Given the description of an element on the screen output the (x, y) to click on. 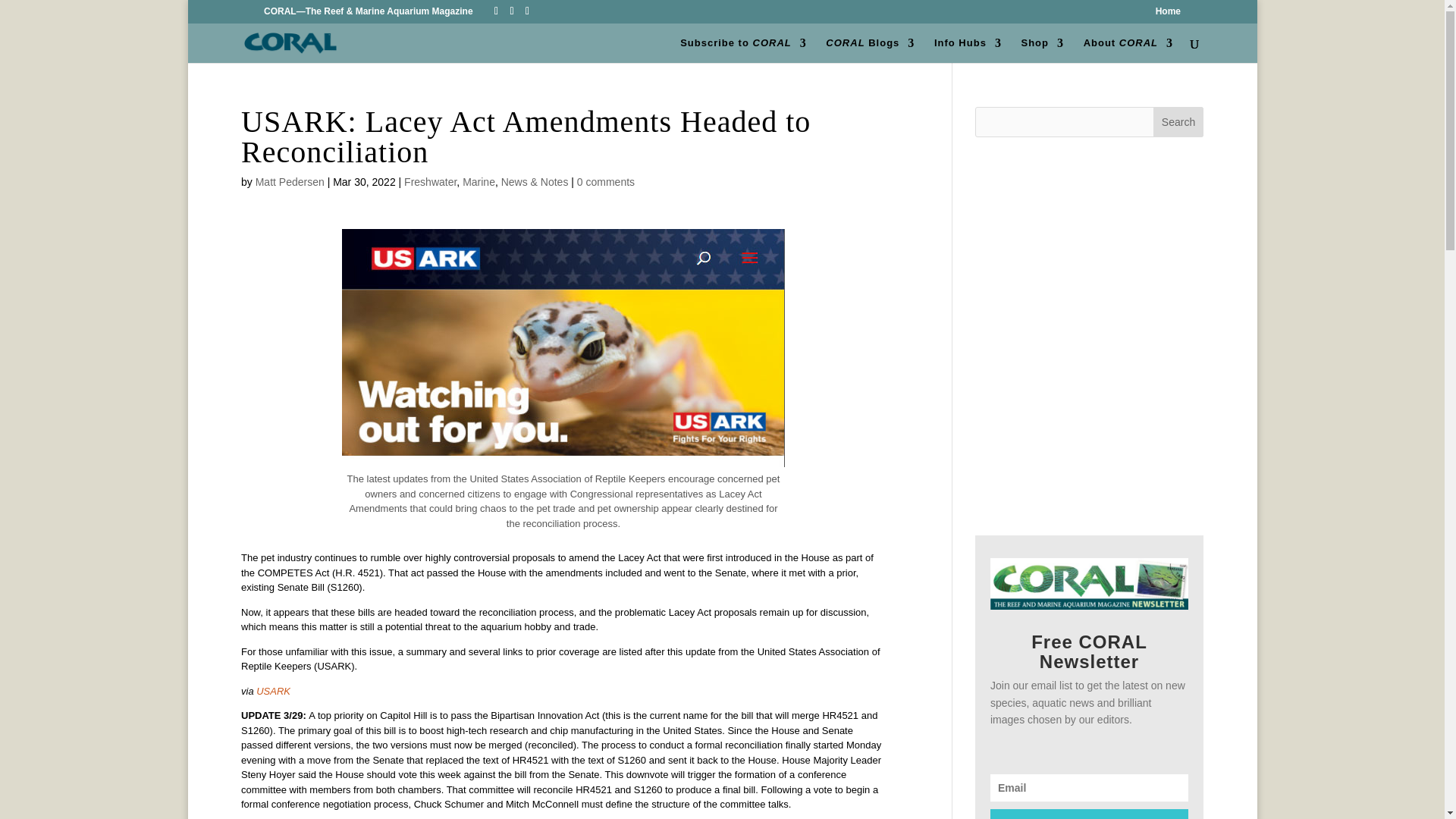
Subscribe to CORAL Magazine (742, 50)
Info Hubs (967, 50)
Subscribe to CORAL (742, 50)
CORAL Blogs (869, 50)
Home (1168, 14)
